Given the description of an element on the screen output the (x, y) to click on. 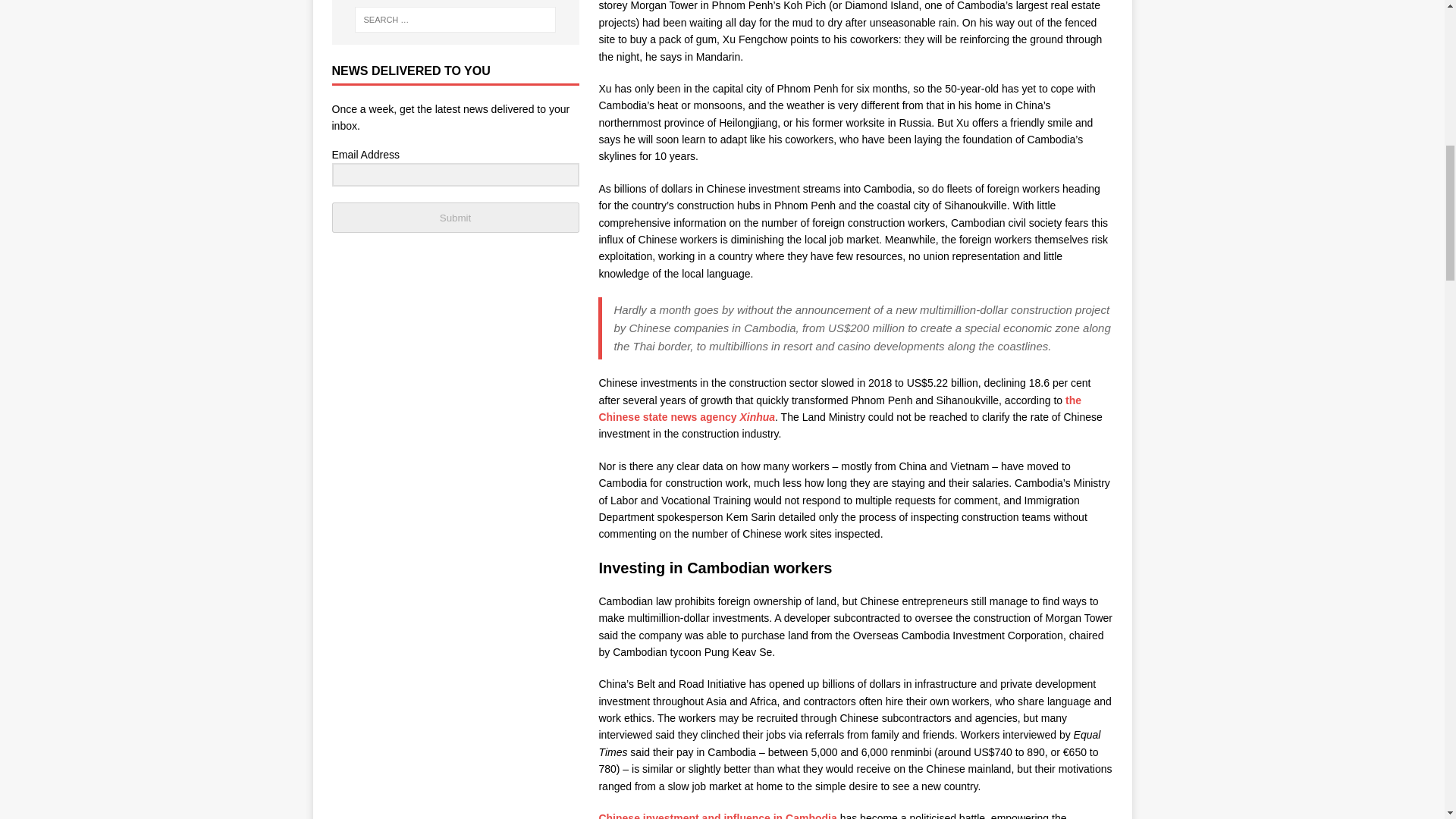
Chinese investment and influence in Cambodia (716, 815)
the Chinese state news agency Xinhua (839, 408)
